Given the description of an element on the screen output the (x, y) to click on. 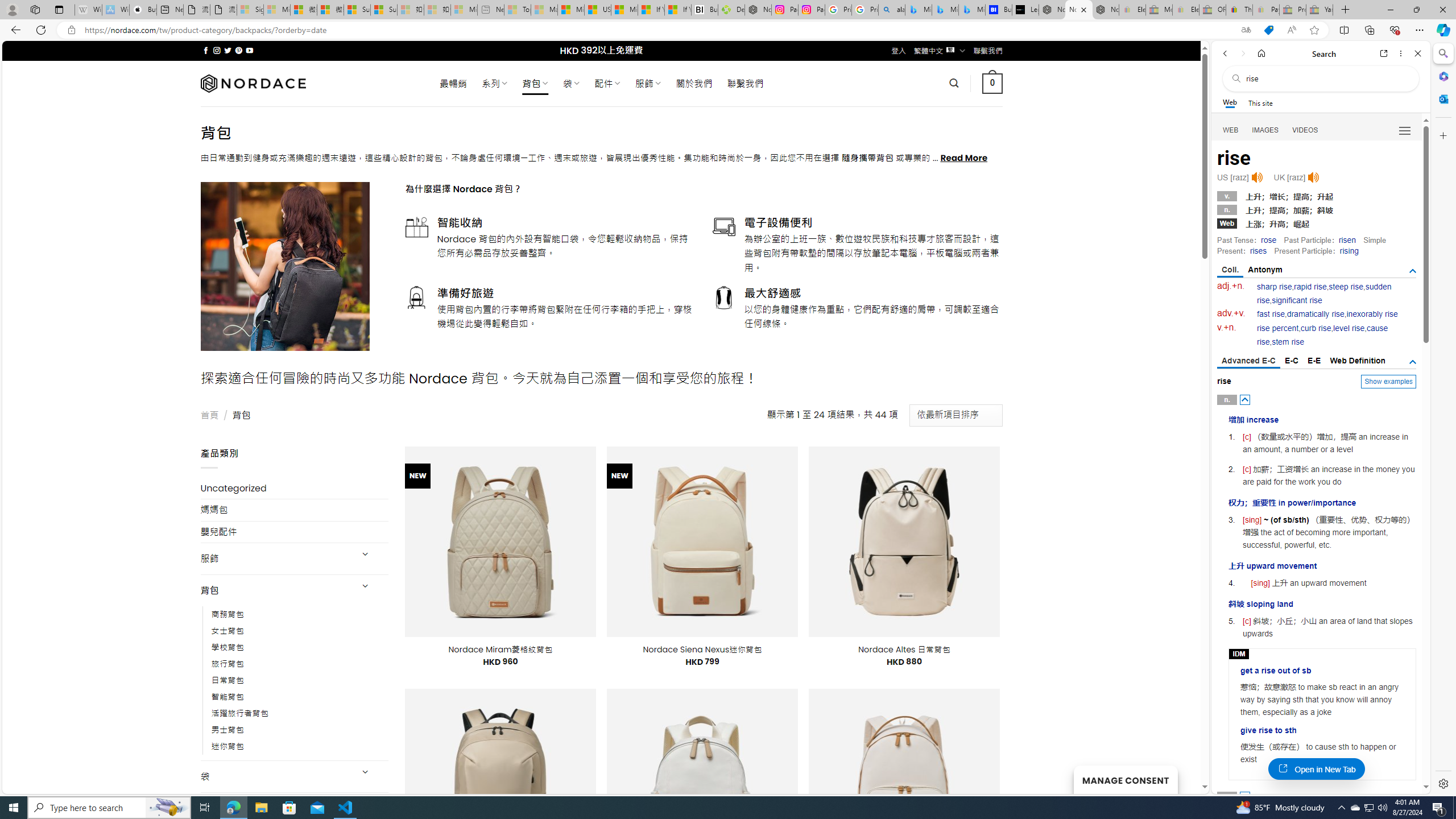
Uncategorized (294, 488)
stem rise (1287, 341)
Read More (964, 157)
